Given the description of an element on the screen output the (x, y) to click on. 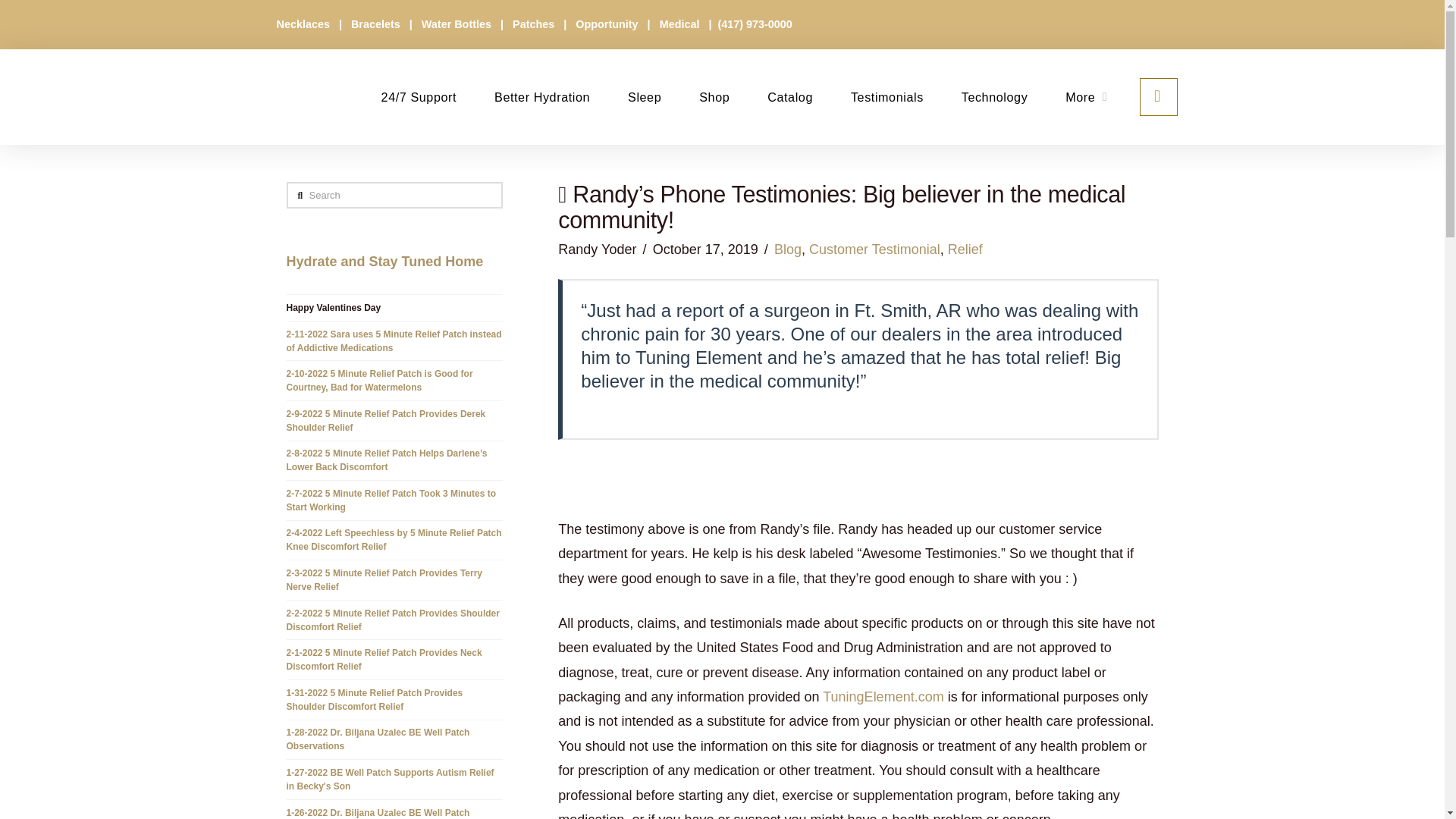
Customer Testimonial (874, 249)
Bracelets (376, 24)
More (1085, 96)
Sleep (643, 96)
Catalog (789, 96)
Testimonials (886, 96)
Better Hydration (542, 96)
Patches (534, 24)
